Given the description of an element on the screen output the (x, y) to click on. 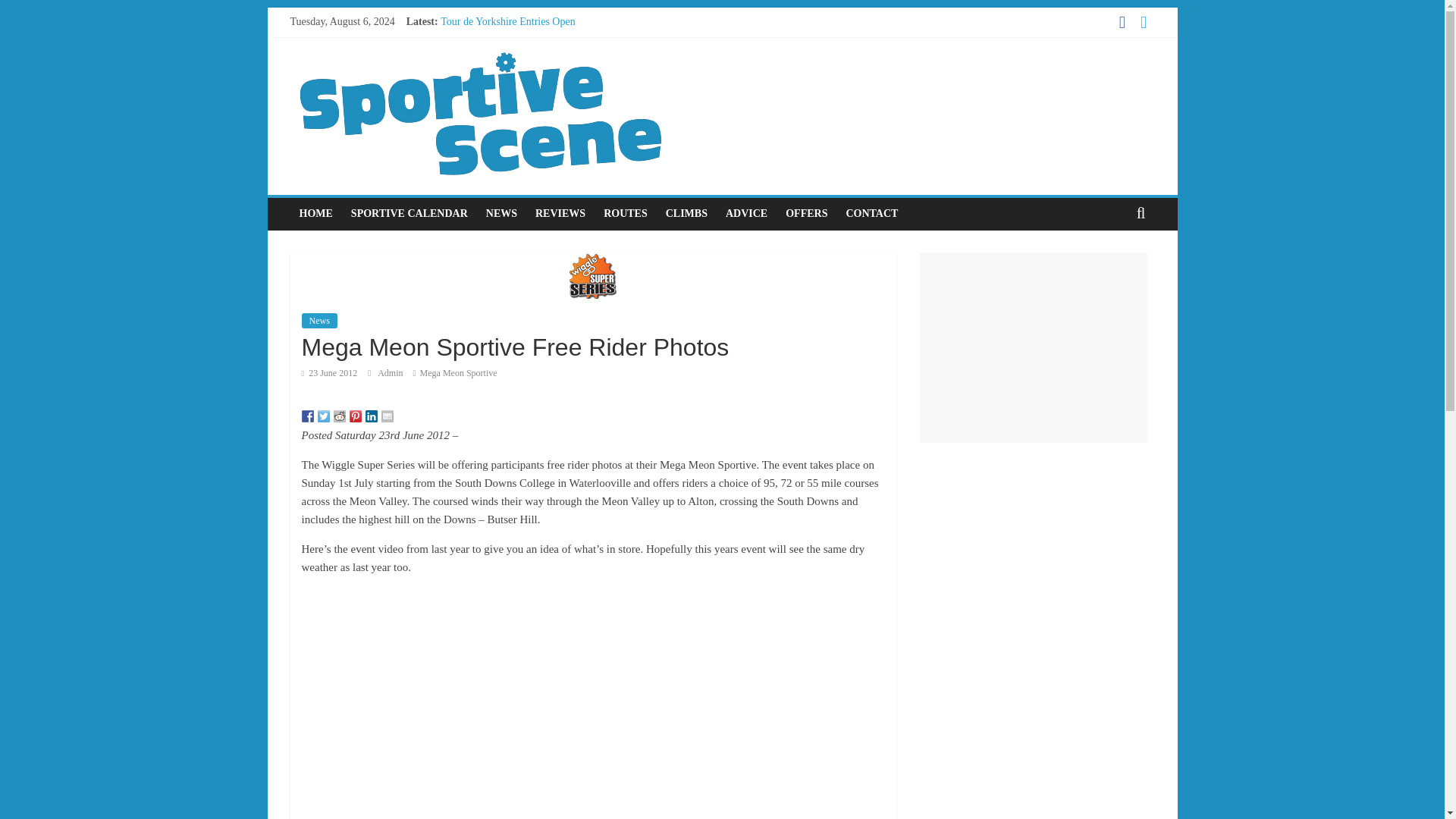
REVIEWS (559, 214)
23 June 2012 (329, 372)
Sussex Downs Beach Cruiser Sportive Arrives Saturday (559, 89)
Share on Twitter (323, 416)
Mega Meon Sportive (458, 372)
Share on Reddit (339, 416)
HOME (314, 214)
ROUTES (625, 214)
Sigma Sports Headline Sportive Series (523, 38)
OFFERS (805, 214)
